Given the description of an element on the screen output the (x, y) to click on. 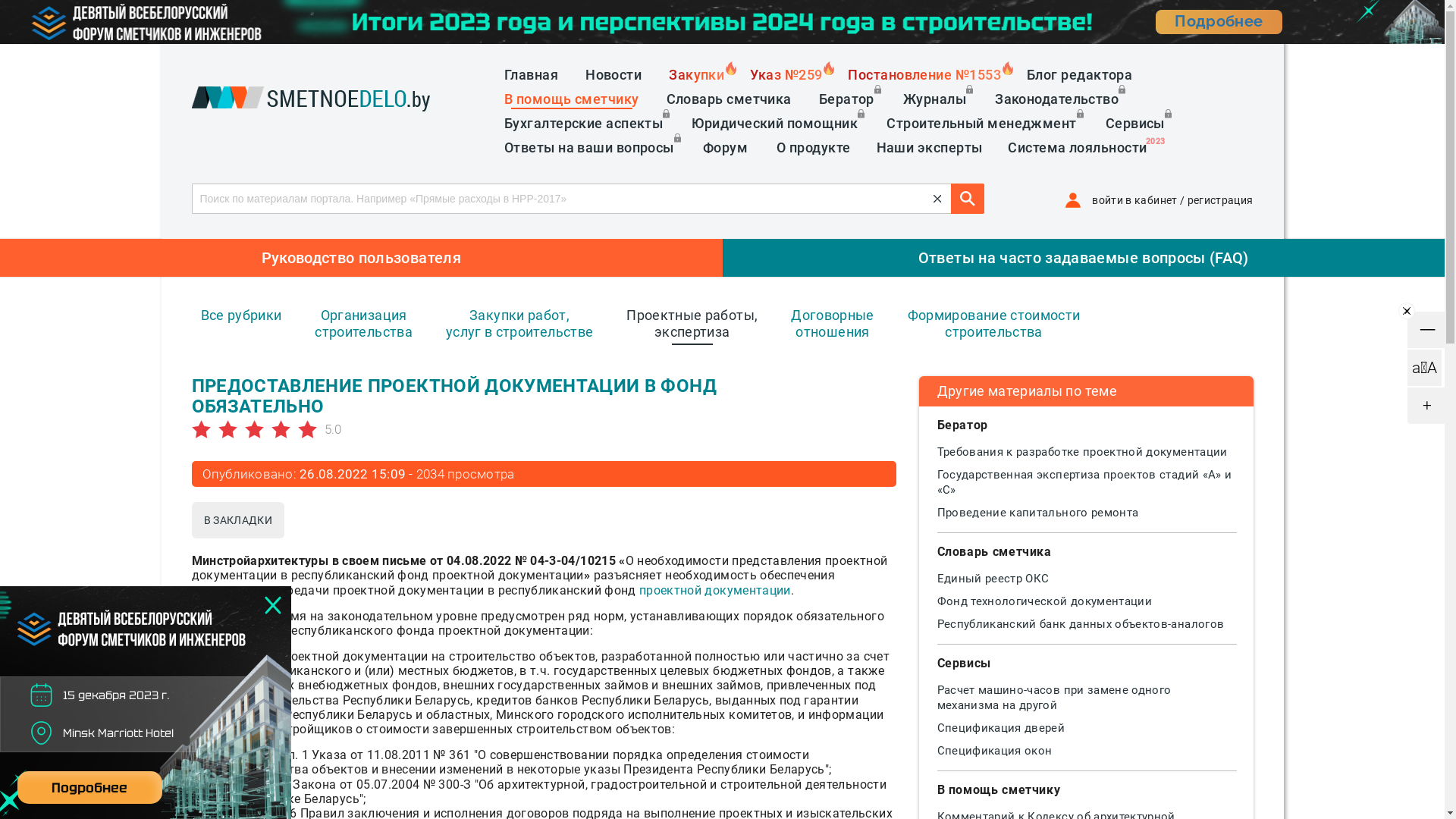
+ Element type: text (1426, 405)
